Given the description of an element on the screen output the (x, y) to click on. 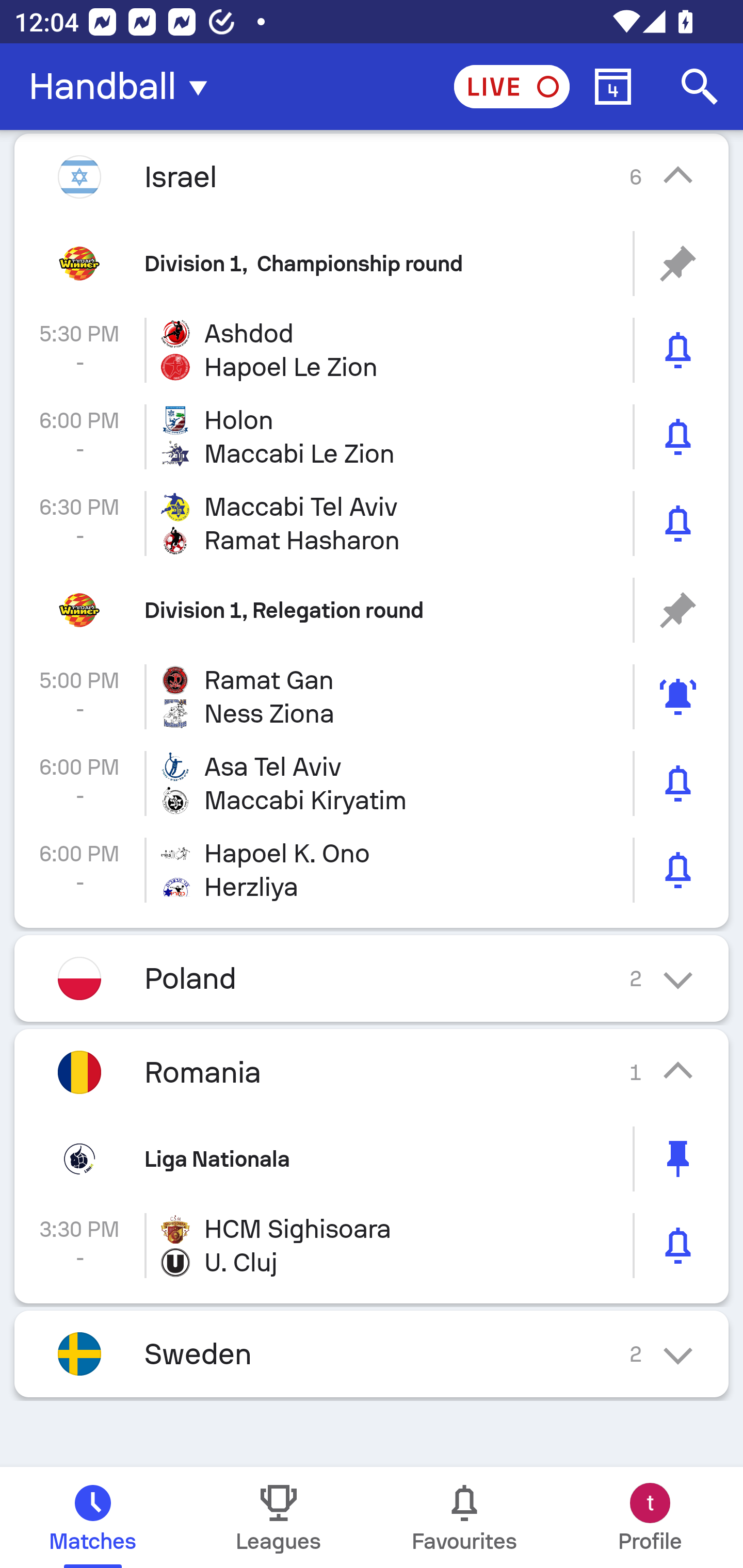
Handball (124, 86)
Calendar (612, 86)
Search (699, 86)
Israel 6 (371, 176)
Division 1,  Championship round (371, 263)
5:30 PM - Ashdod Hapoel Le Zion (371, 350)
6:00 PM - Holon Maccabi Le Zion (371, 436)
6:30 PM - Maccabi Tel Aviv Ramat Hasharon (371, 523)
Division 1, Relegation round (371, 610)
5:00 PM - Ramat Gan Ness Ziona (371, 696)
6:00 PM - Asa Tel Aviv Maccabi Kiryatim (371, 783)
6:00 PM - Hapoel K. Ono Herzliya (371, 870)
Poland 2 (371, 978)
Romania 1 (371, 1072)
Liga Nationala (371, 1159)
3:30 PM - HCM Sighisoara U. Cluj (371, 1245)
Sweden 2 (371, 1353)
Leagues (278, 1517)
Favourites (464, 1517)
Profile (650, 1517)
